Given the description of an element on the screen output the (x, y) to click on. 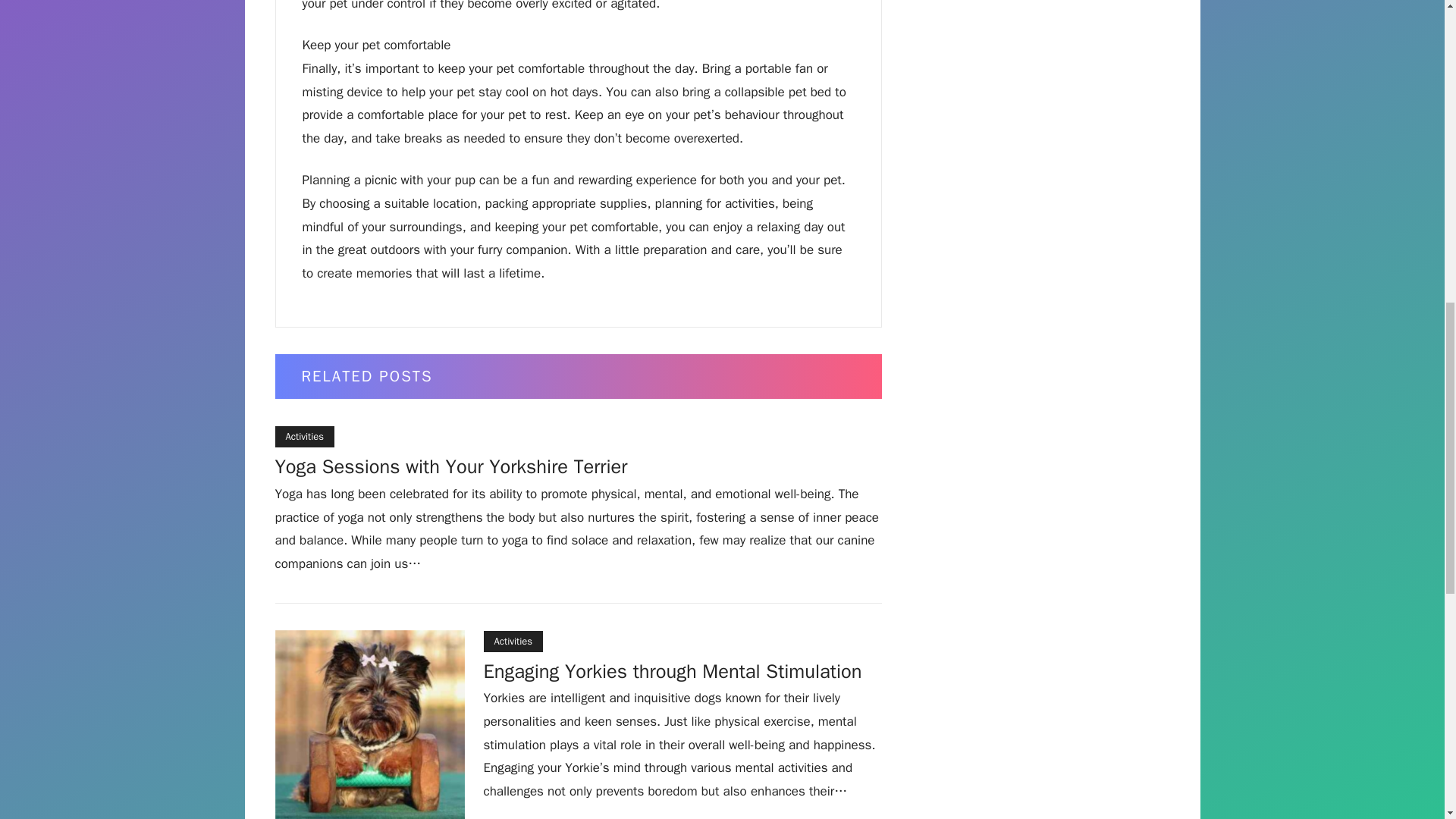
Yoga Sessions with Your Yorkshire Terrier (451, 468)
Activities (304, 436)
Engaging Yorkies through Mental Stimulation (672, 673)
Activities (513, 640)
